Given the description of an element on the screen output the (x, y) to click on. 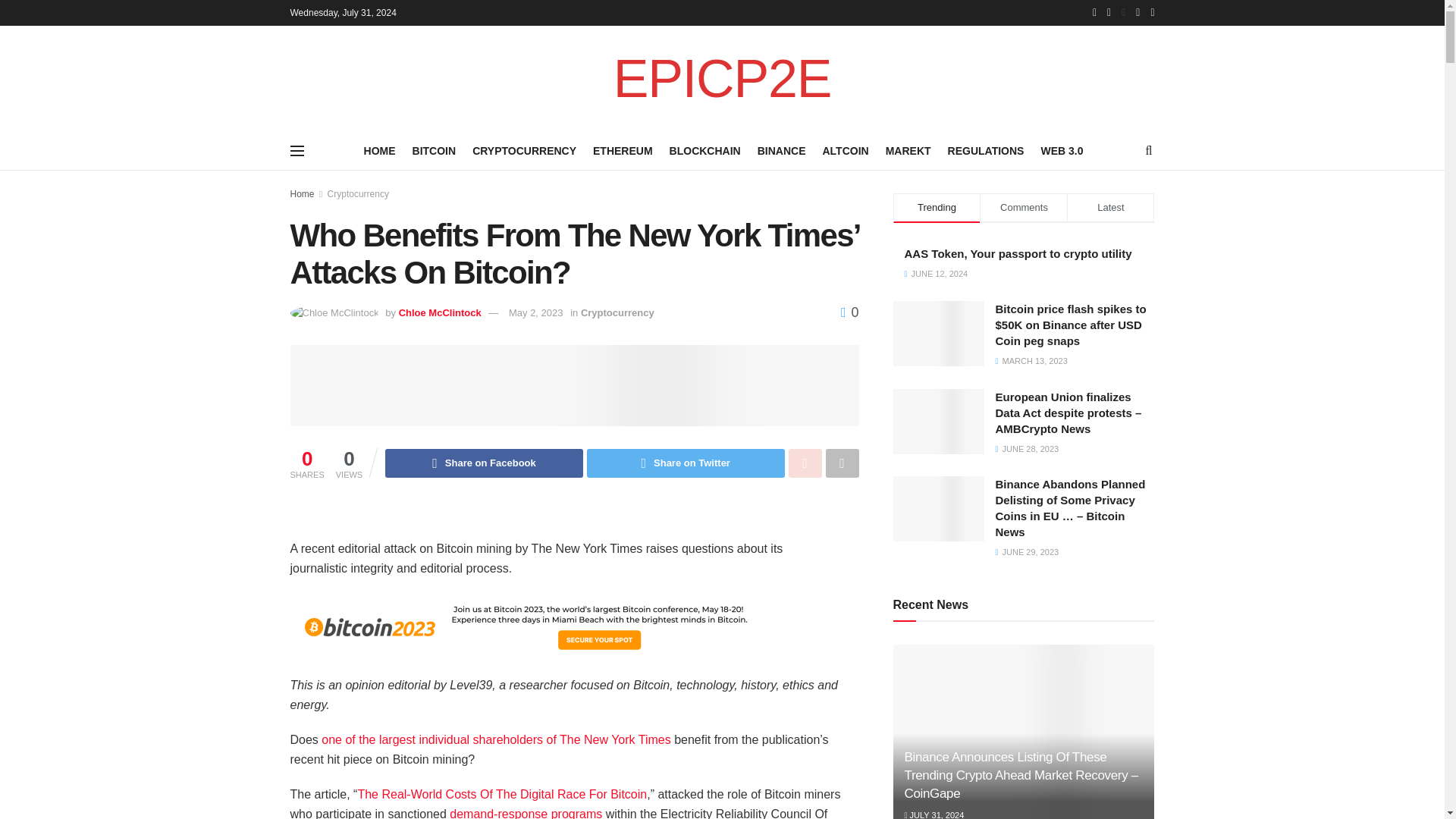
WEB 3.0 (1062, 150)
Share on Twitter (685, 462)
HOME (380, 150)
Home (301, 194)
BITCOIN (434, 150)
EPICP2E (721, 78)
0 (850, 312)
BINANCE (781, 150)
Cryptocurrency (616, 312)
The Real-World Costs Of The Digital Race For Bitcoin (501, 793)
BLOCKCHAIN (705, 150)
MAREKT (908, 150)
CRYPTOCURRENCY (523, 150)
May 2, 2023 (535, 312)
